Given the description of an element on the screen output the (x, y) to click on. 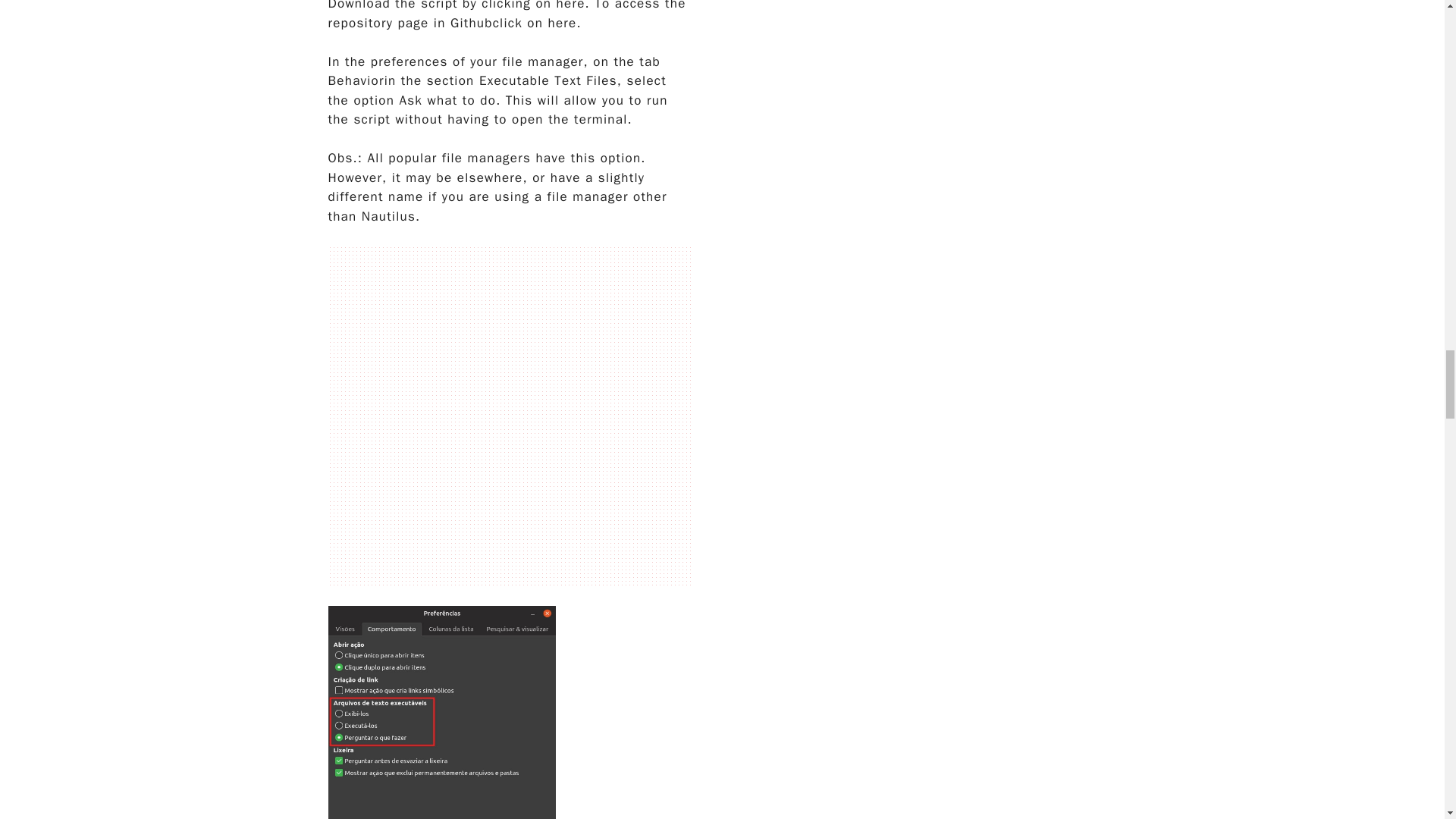
Nautilus Preferences (440, 712)
